Given the description of an element on the screen output the (x, y) to click on. 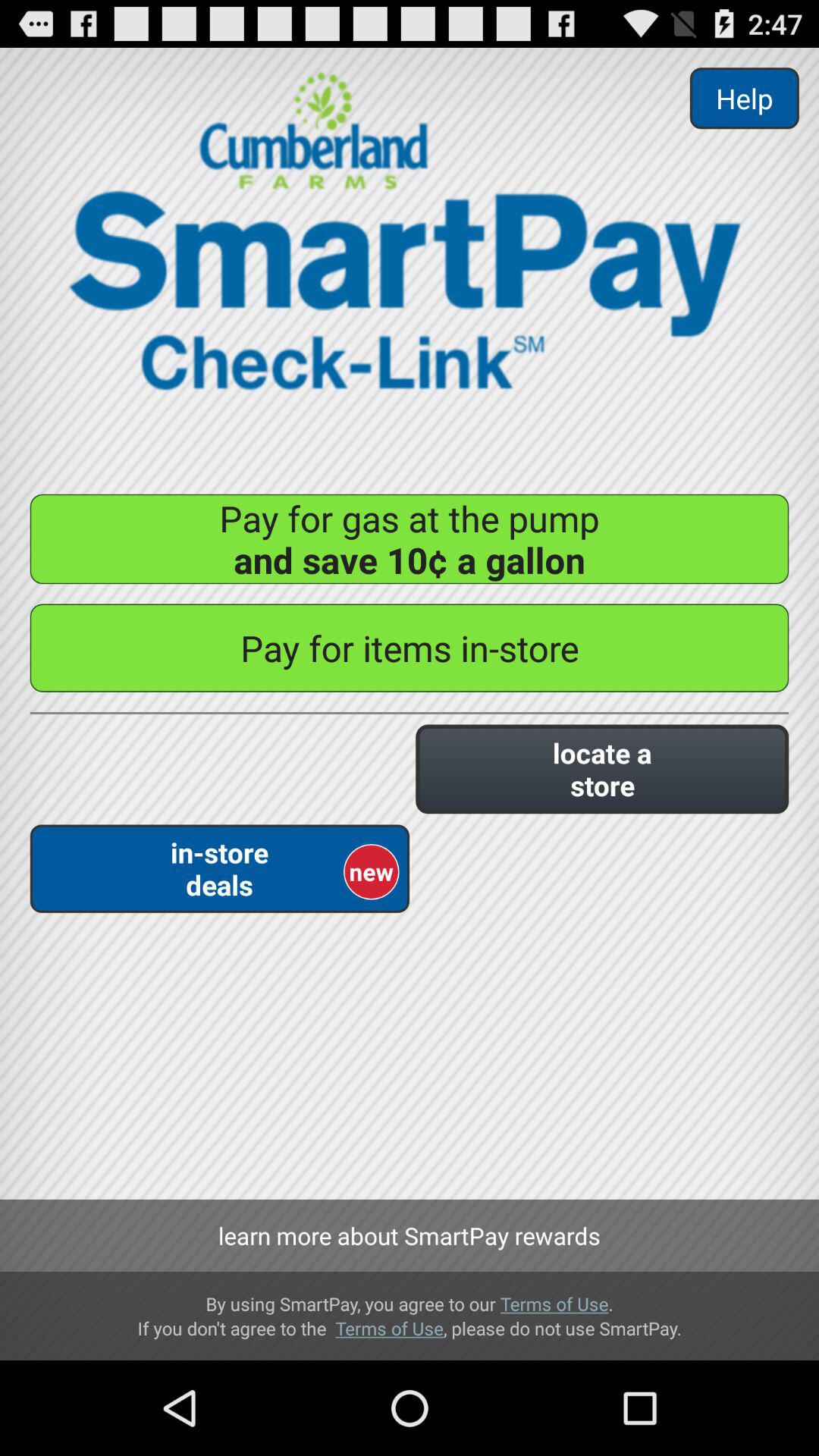
turn on icon to the right of in-store
deals item (601, 768)
